Given the description of an element on the screen output the (x, y) to click on. 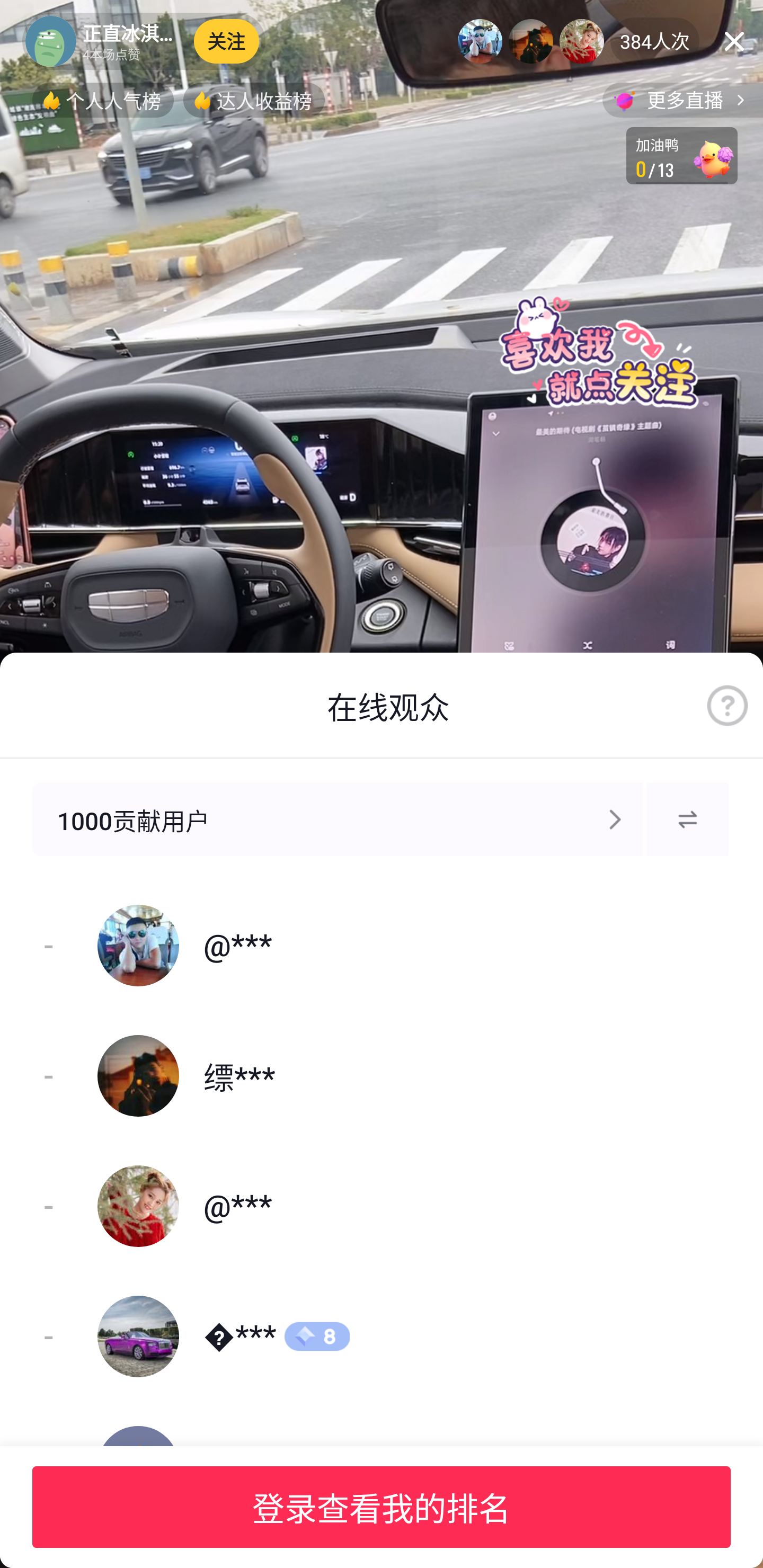
在线观众 (388, 705)
规则按钮 (727, 705)
登录查看我的排名 按钮 (381, 1506)
